Given the description of an element on the screen output the (x, y) to click on. 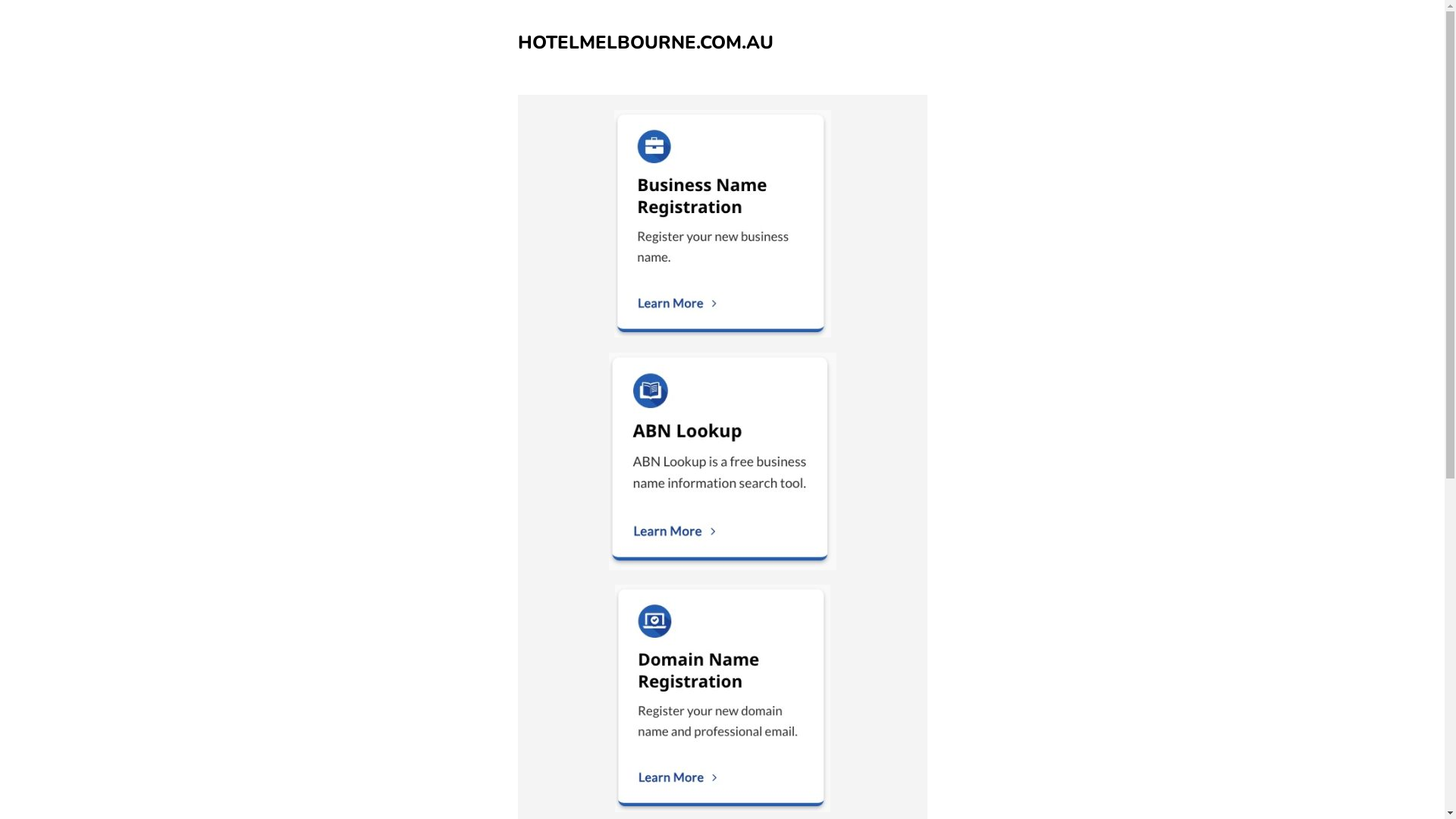
HOTELMELBOURNE.COM.AU Element type: text (644, 42)
